Given the description of an element on the screen output the (x, y) to click on. 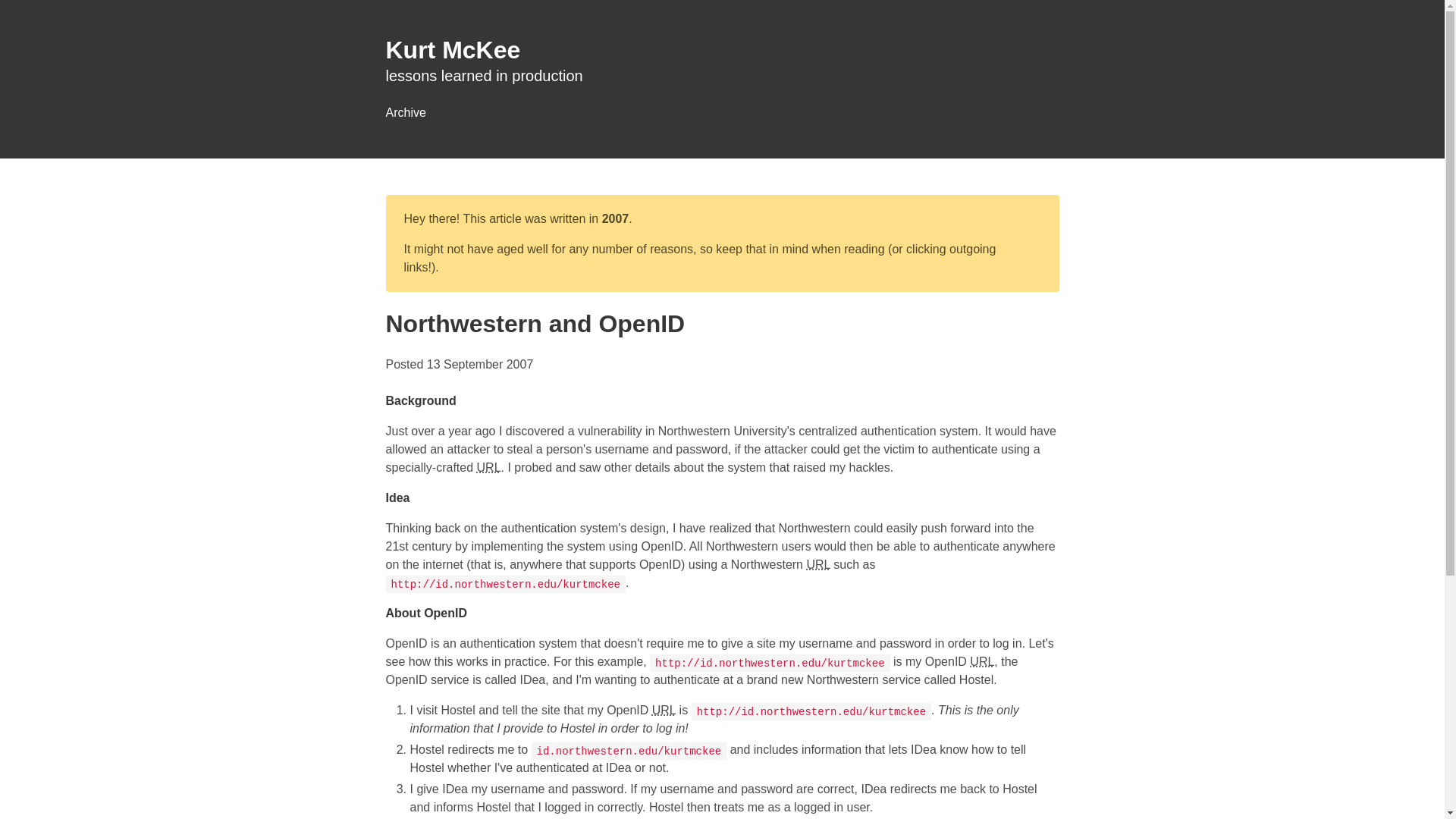
Archive (405, 112)
Kurt McKee (452, 49)
Uniform Resource Locator (663, 709)
Uniform Resource Locator (981, 661)
Uniform Resource Locator (488, 467)
Uniform Resource Locator (817, 563)
